Given the description of an element on the screen output the (x, y) to click on. 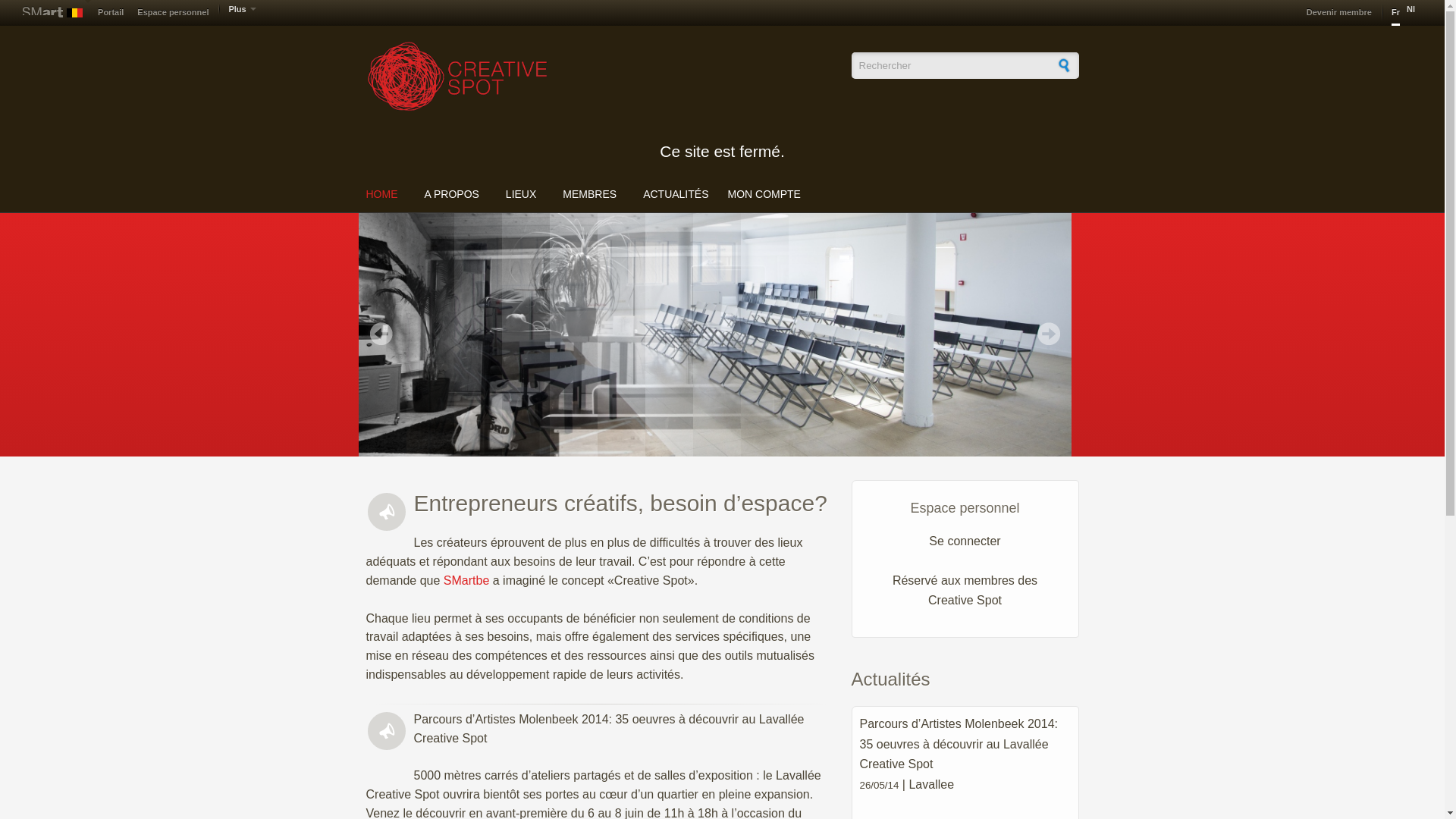
A PROPOS Element type: text (451, 193)
Prev Element type: text (381, 333)
Accueil Element type: hover (600, 75)
Next Element type: text (1048, 333)
Devenir membre Element type: text (1338, 12)
HOME Element type: text (383, 193)
Espace personnel Element type: text (172, 12)
Fr Element type: text (1395, 12)
Portail Element type: text (110, 12)
SMartbe Element type: text (467, 580)
